Given the description of an element on the screen output the (x, y) to click on. 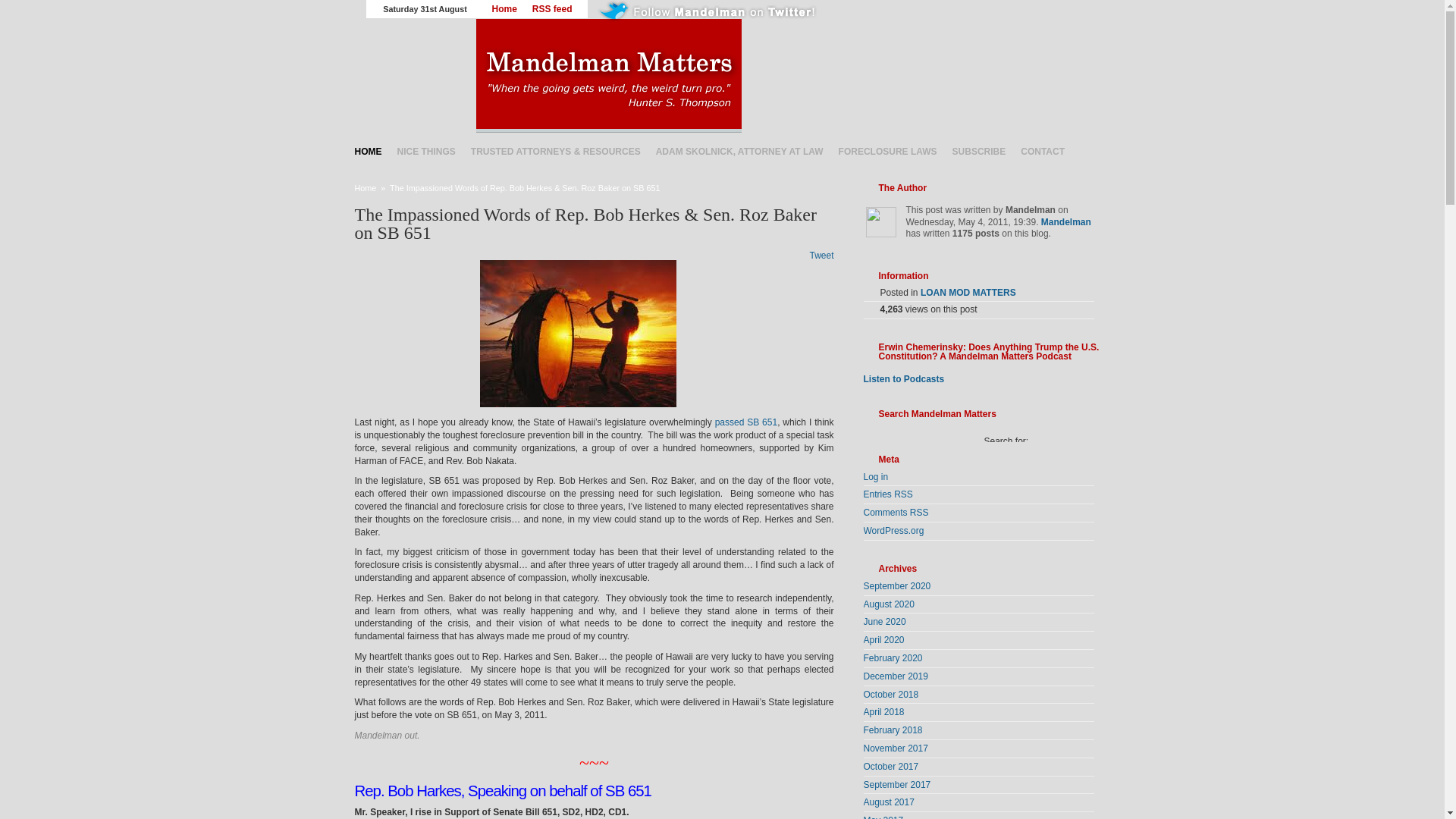
Posts by Mandelman (1065, 222)
HOME (368, 151)
SUBSCRIBE (978, 151)
CONTACT (1042, 151)
FORECLOSURE LAWS (887, 151)
RSS feed (552, 9)
HOME (368, 151)
Really Simple Syndication (902, 493)
Tweet (820, 255)
